Given the description of an element on the screen output the (x, y) to click on. 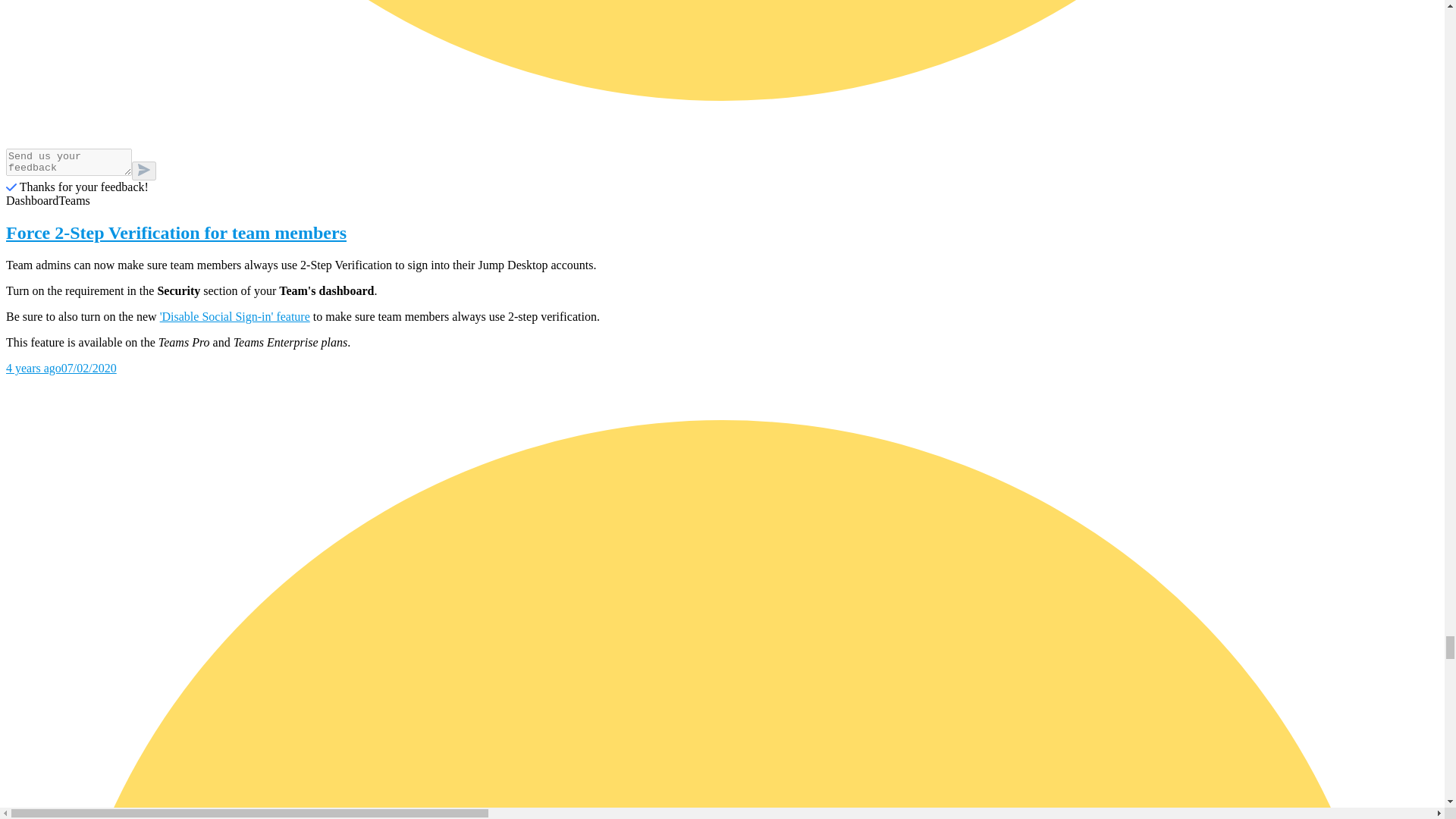
Submit Button (143, 170)
Force 2-Step Verification for team members (721, 232)
'Disable Social Sign-in' feature (235, 316)
